Given the description of an element on the screen output the (x, y) to click on. 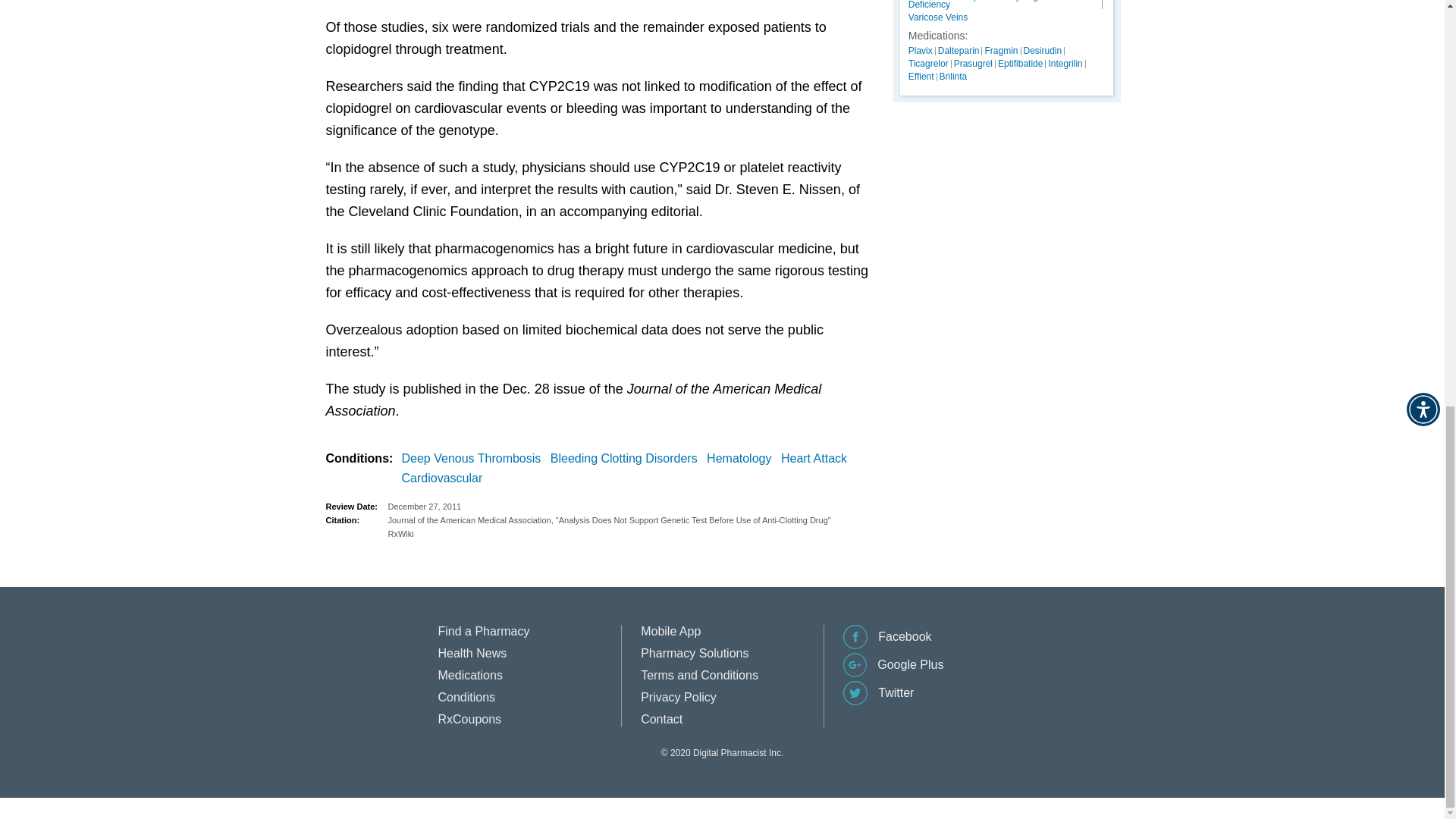
Deep Venous Thrombosis (474, 458)
Heart Attack (816, 458)
RxWiki (630, 533)
Cardiovascular (445, 478)
Bleeding Clotting Disorders (626, 458)
Hematology (741, 458)
